Given the description of an element on the screen output the (x, y) to click on. 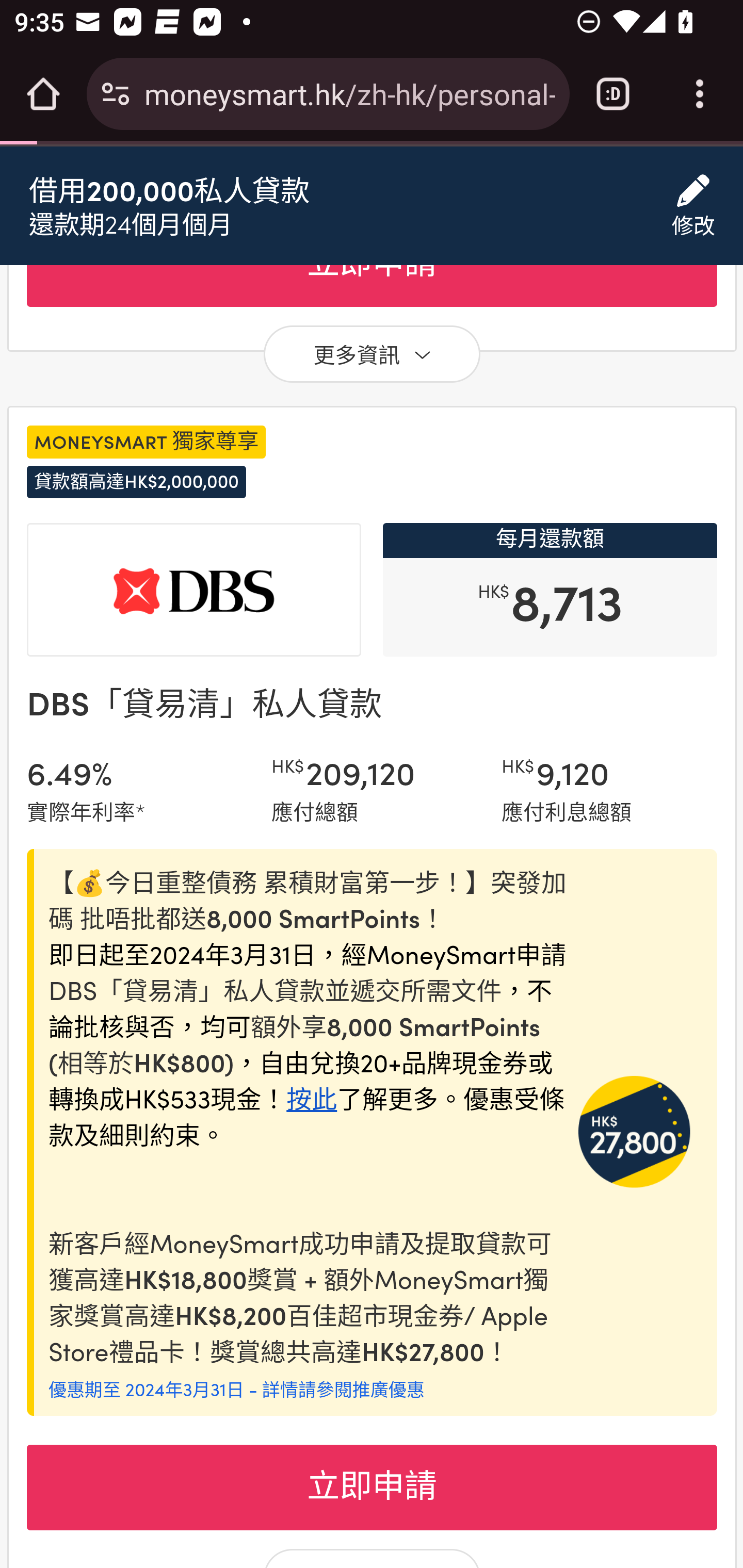
Open the home page (43, 93)
Connection is secure (115, 93)
Switch or close tabs (612, 93)
Customize and control Google Chrome (699, 93)
修改 (692, 206)
DBS 星展銀行 logo (193, 591)
DBS「貸易清」私人貸款 (203, 703)
按此 (311, 1099)
立即申請 (371, 1488)
